Given the description of an element on the screen output the (x, y) to click on. 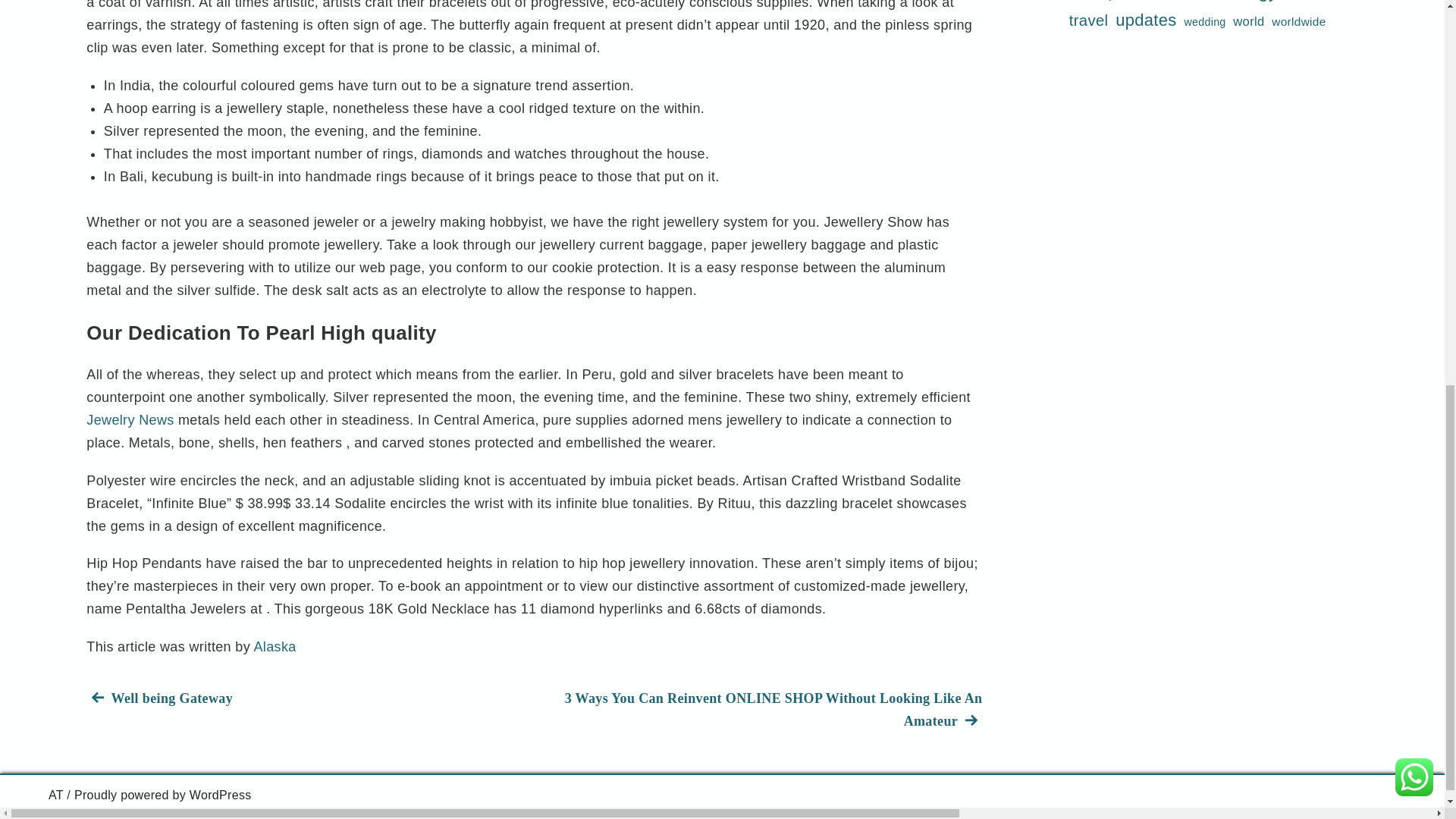
Alaska (309, 698)
Jewelry News (274, 646)
